Given the description of an element on the screen output the (x, y) to click on. 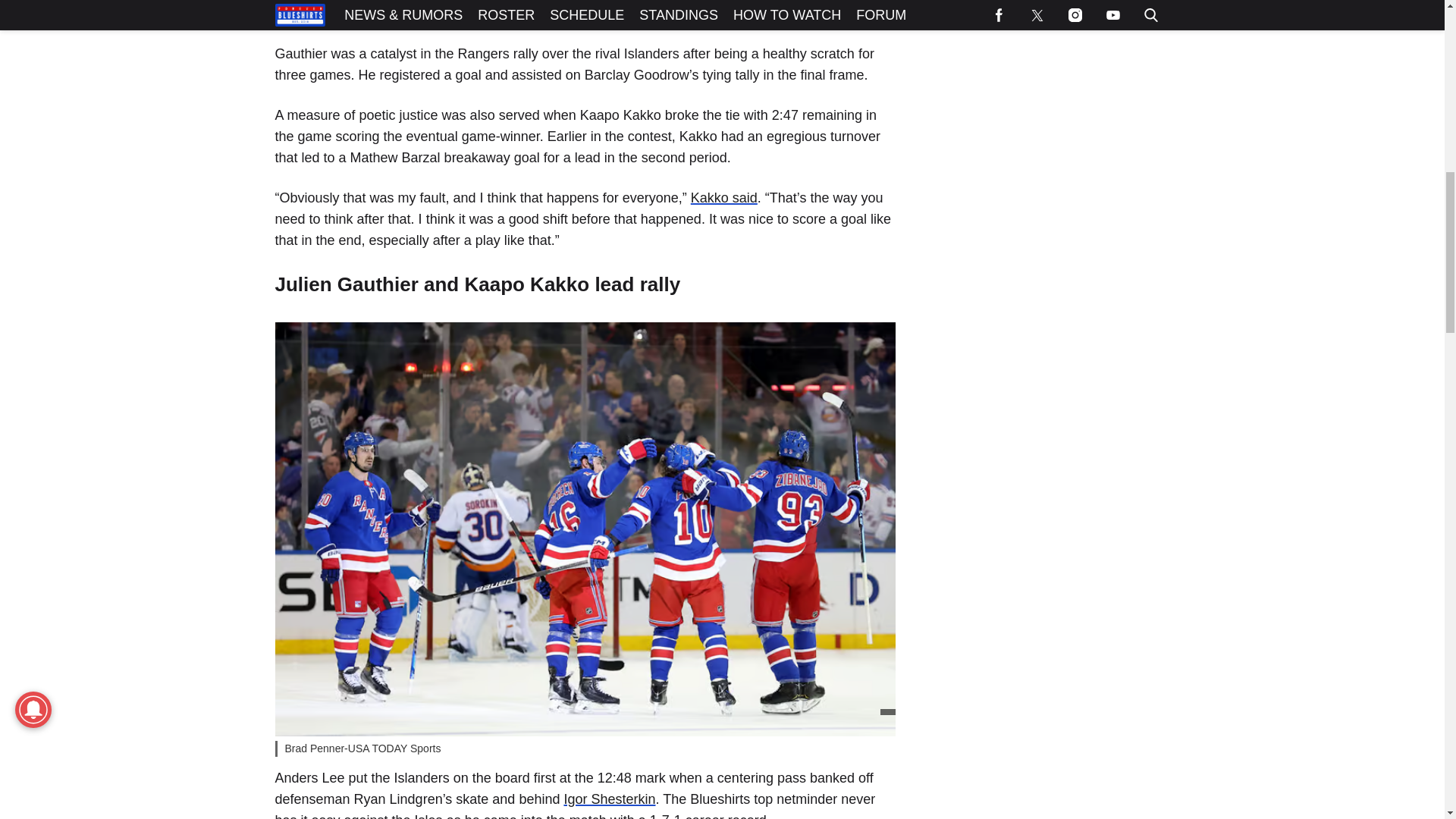
Kakko said (723, 197)
Igor Shesterkin (609, 798)
Igor Shesterkin (609, 798)
